Given the description of an element on the screen output the (x, y) to click on. 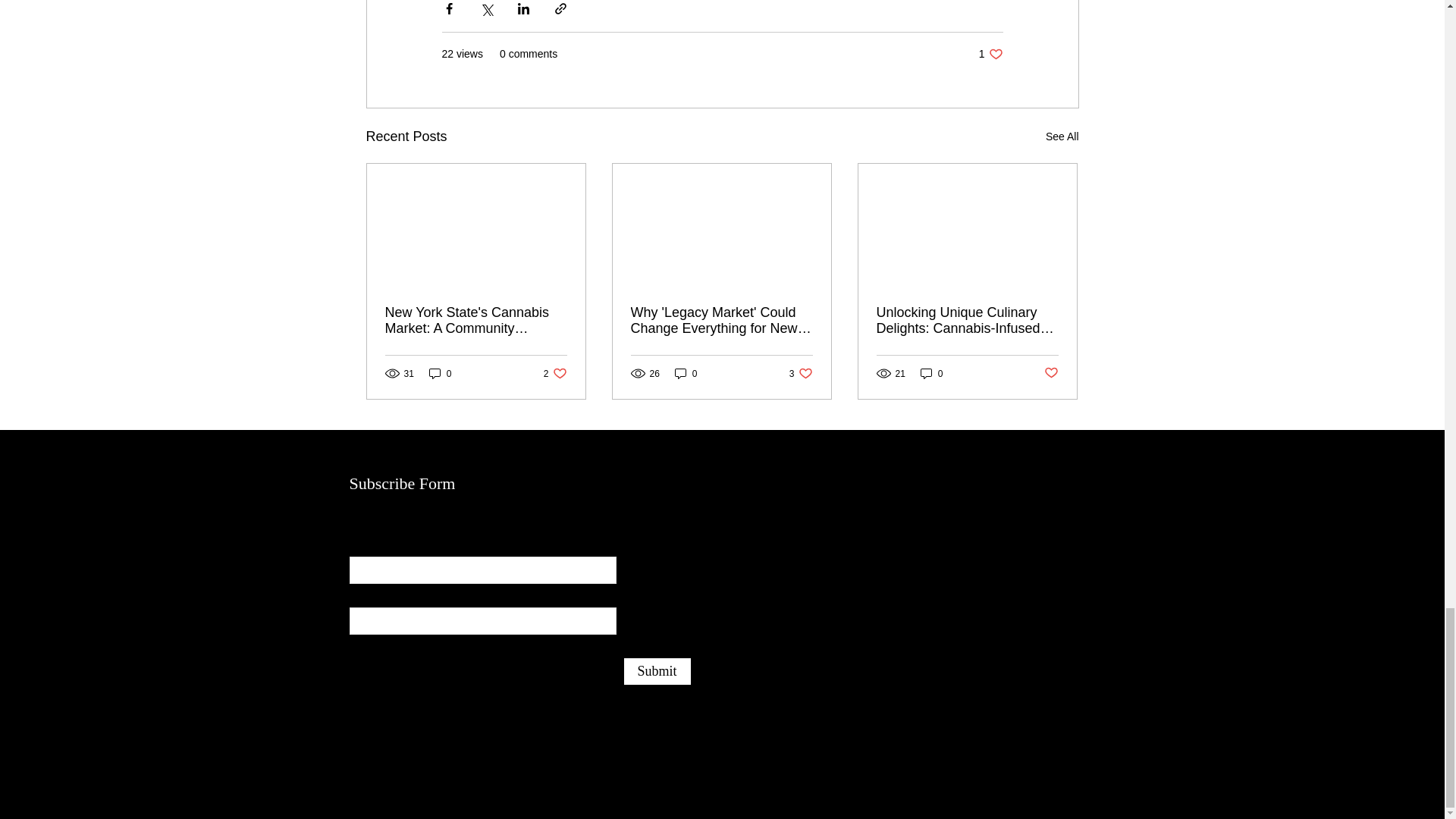
New York State's Cannabis Market: A Community Perspective (990, 53)
0 (476, 320)
0 (931, 373)
0 (440, 373)
See All (685, 373)
